Given the description of an element on the screen output the (x, y) to click on. 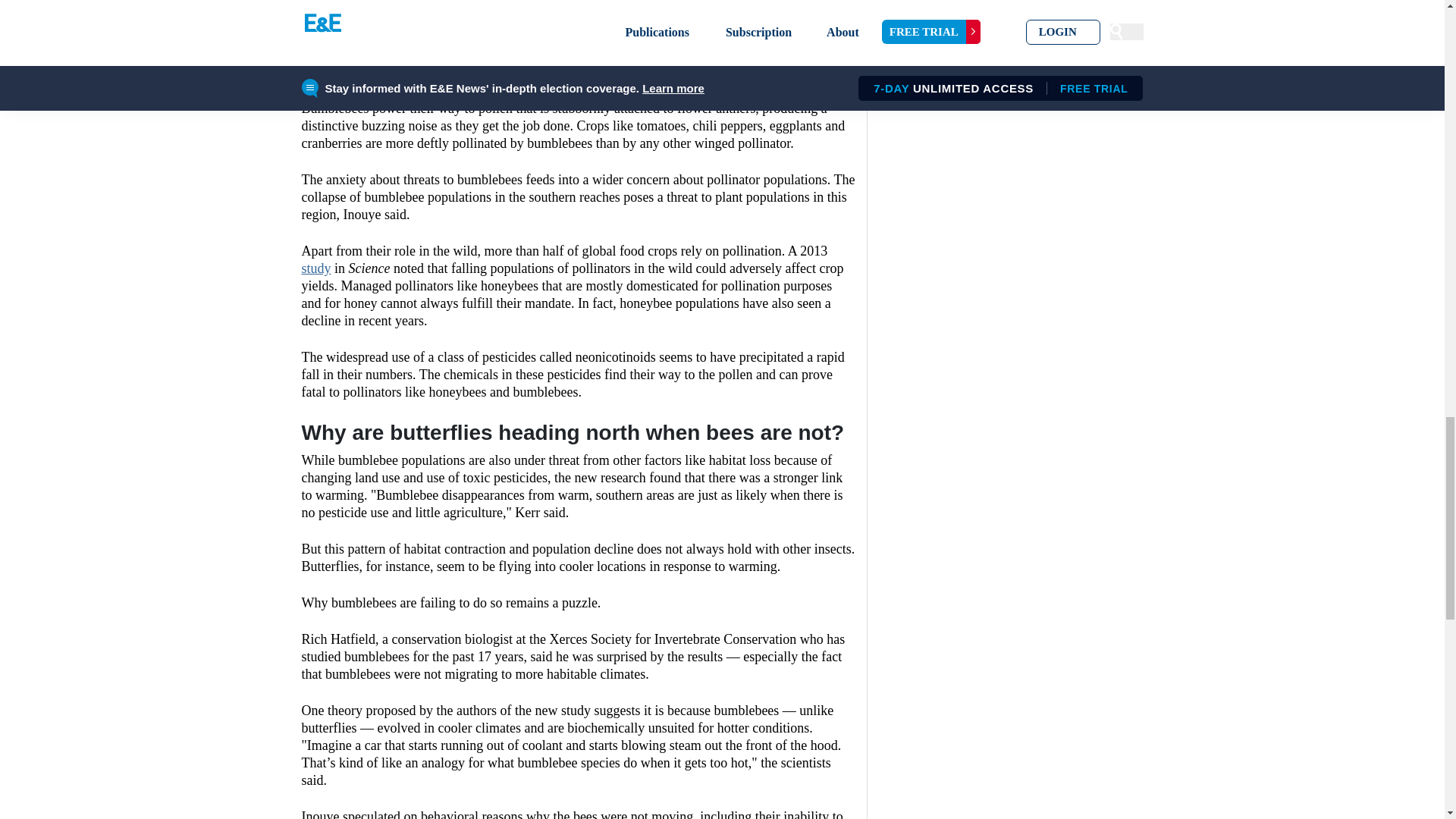
study (316, 268)
